Given the description of an element on the screen output the (x, y) to click on. 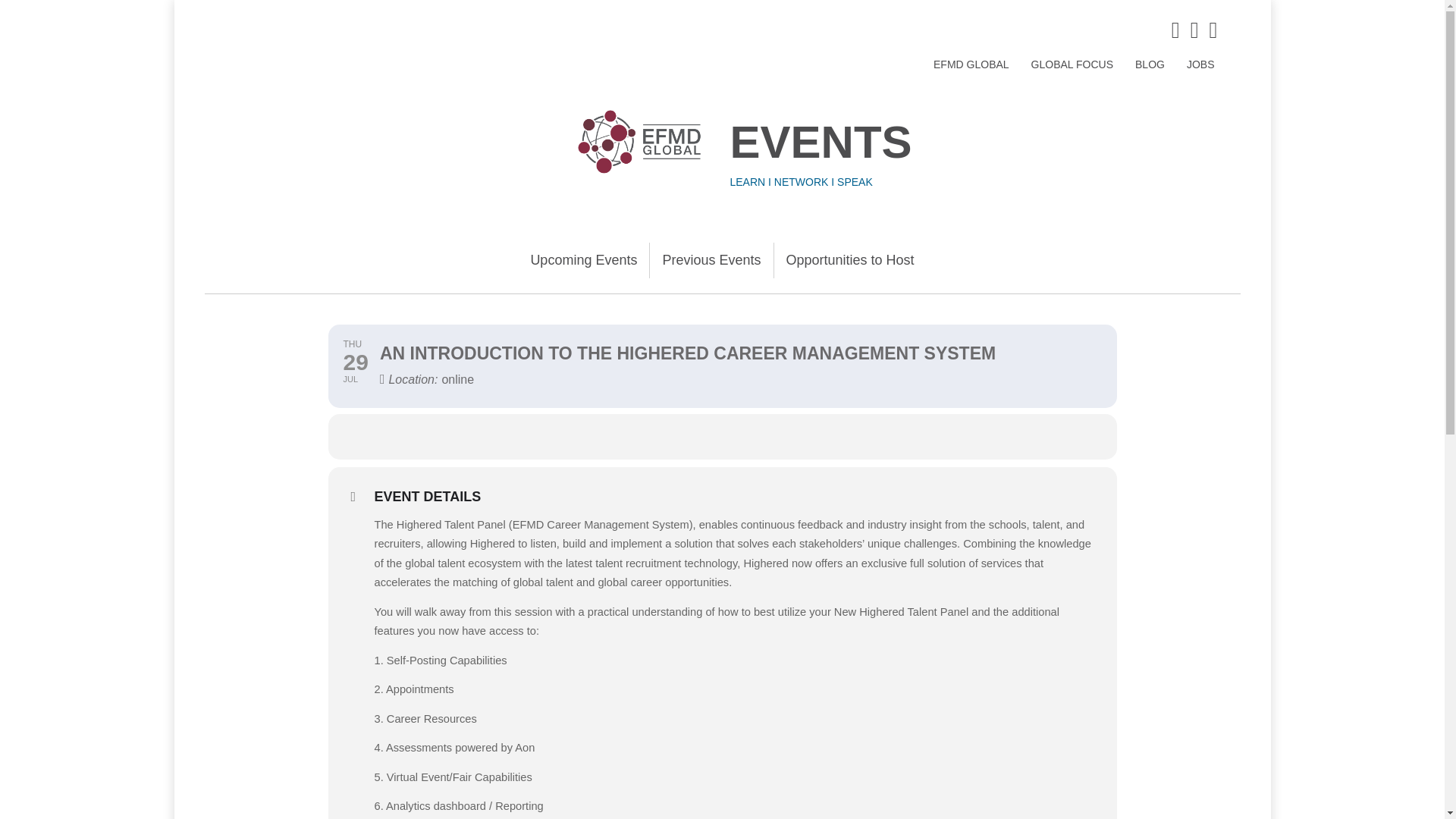
Upcoming Events (583, 260)
EFMD GLOBAL (971, 63)
BLOG (1149, 63)
Previous Events (711, 260)
JOBS (1200, 63)
Opportunities to Host (850, 260)
EVENTS (820, 142)
GLOBAL FOCUS (1072, 63)
EFMD-Global-H-Pantone (638, 141)
